Given the description of an element on the screen output the (x, y) to click on. 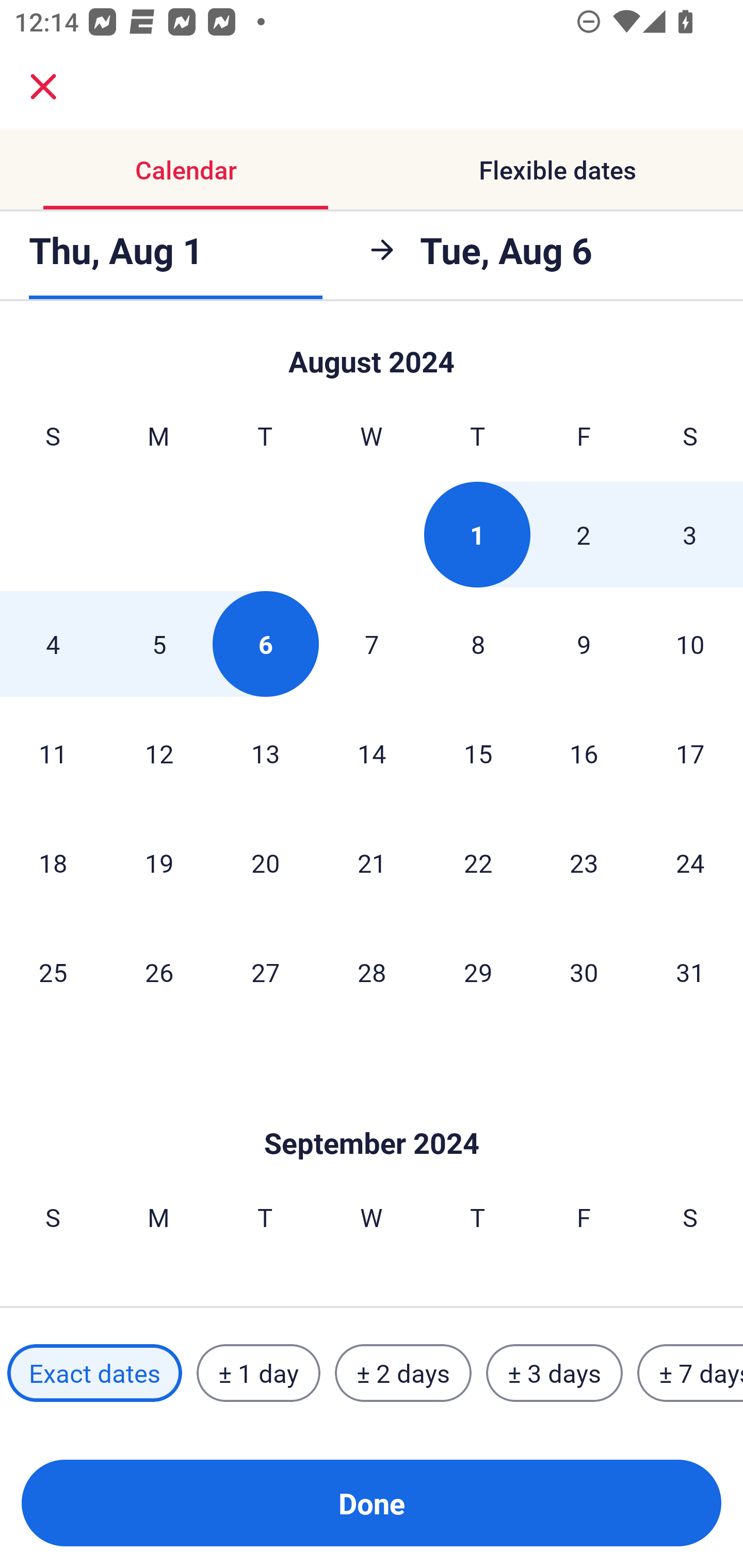
close. (43, 86)
Flexible dates (557, 170)
Skip to Done (371, 352)
7 Wednesday, August 7, 2024 (371, 643)
8 Thursday, August 8, 2024 (477, 643)
9 Friday, August 9, 2024 (584, 643)
10 Saturday, August 10, 2024 (690, 643)
11 Sunday, August 11, 2024 (53, 752)
12 Monday, August 12, 2024 (159, 752)
13 Tuesday, August 13, 2024 (265, 752)
14 Wednesday, August 14, 2024 (371, 752)
15 Thursday, August 15, 2024 (477, 752)
16 Friday, August 16, 2024 (584, 752)
17 Saturday, August 17, 2024 (690, 752)
18 Sunday, August 18, 2024 (53, 862)
19 Monday, August 19, 2024 (159, 862)
20 Tuesday, August 20, 2024 (265, 862)
21 Wednesday, August 21, 2024 (371, 862)
22 Thursday, August 22, 2024 (477, 862)
23 Friday, August 23, 2024 (584, 862)
24 Saturday, August 24, 2024 (690, 862)
25 Sunday, August 25, 2024 (53, 971)
26 Monday, August 26, 2024 (159, 971)
27 Tuesday, August 27, 2024 (265, 971)
28 Wednesday, August 28, 2024 (371, 971)
29 Thursday, August 29, 2024 (477, 971)
30 Friday, August 30, 2024 (584, 971)
31 Saturday, August 31, 2024 (690, 971)
Skip to Done (371, 1112)
Exact dates (94, 1372)
± 1 day (258, 1372)
± 2 days (403, 1372)
± 3 days (553, 1372)
± 7 days (690, 1372)
Done (371, 1502)
